Given the description of an element on the screen output the (x, y) to click on. 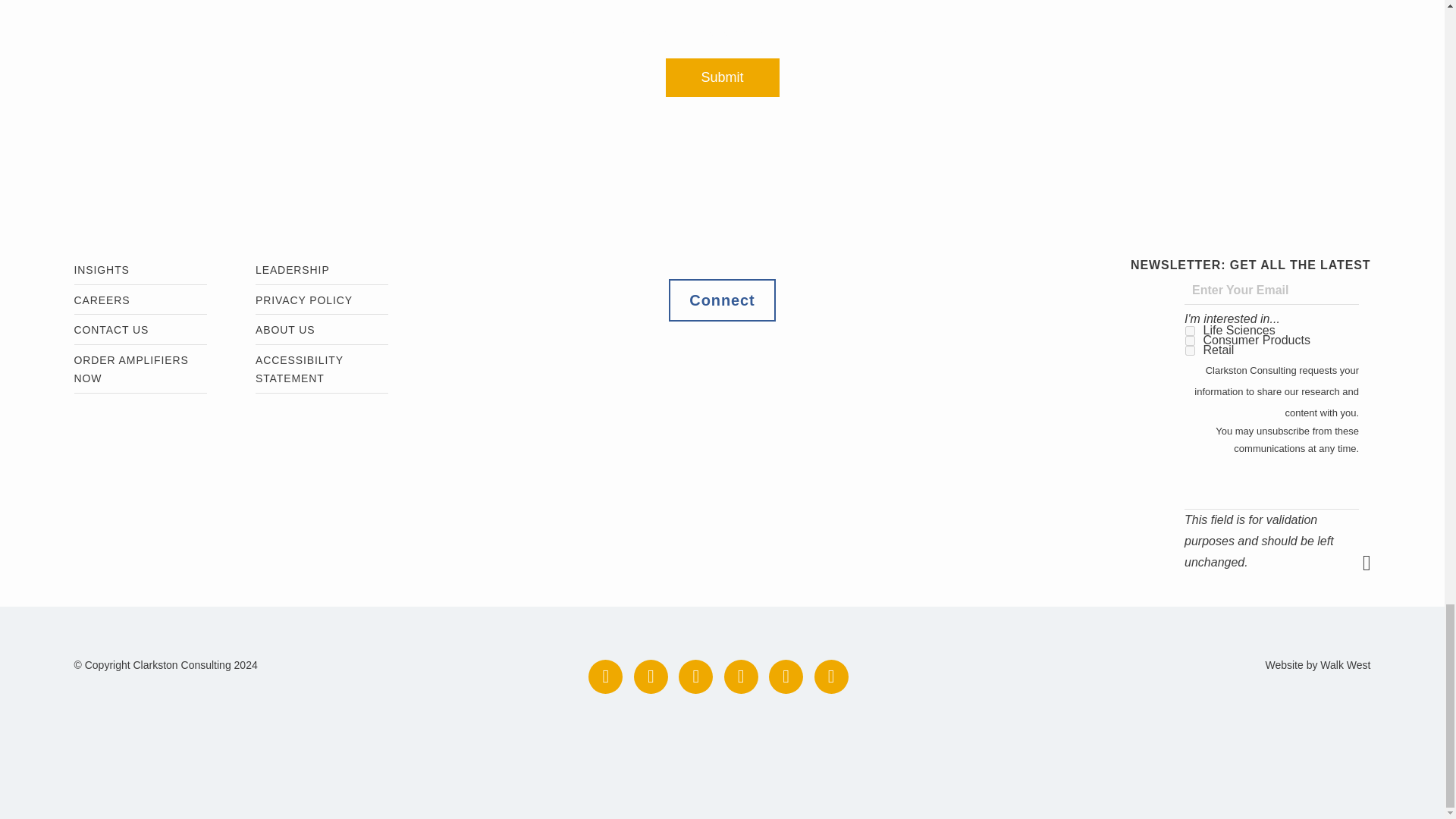
Life Sciences (1190, 330)
Submit (1374, 562)
Retail Industry (1190, 350)
Submit (721, 77)
Consumer Products and Retail (1190, 340)
